Given the description of an element on the screen output the (x, y) to click on. 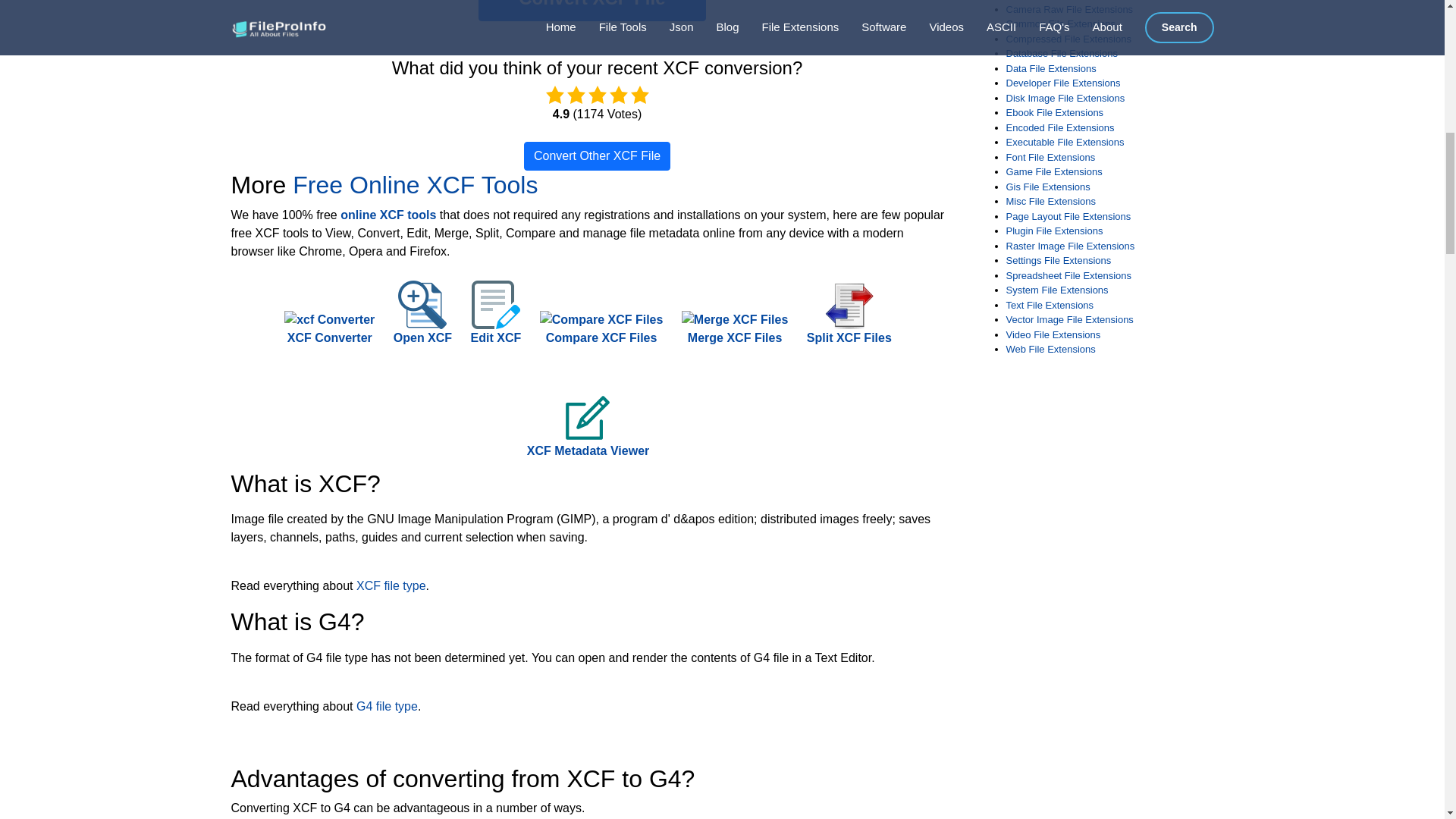
XCF Converter. (328, 327)
Compare XCF Files (601, 327)
Merge XCF Files (734, 327)
Browse all free online XCF tools (387, 214)
G4 file type (386, 706)
free online xcf tools (414, 185)
XCF Metadata Viewer (588, 433)
Convert XCF File (592, 10)
XCF Converter (328, 327)
Edit XCF (495, 320)
